Given the description of an element on the screen output the (x, y) to click on. 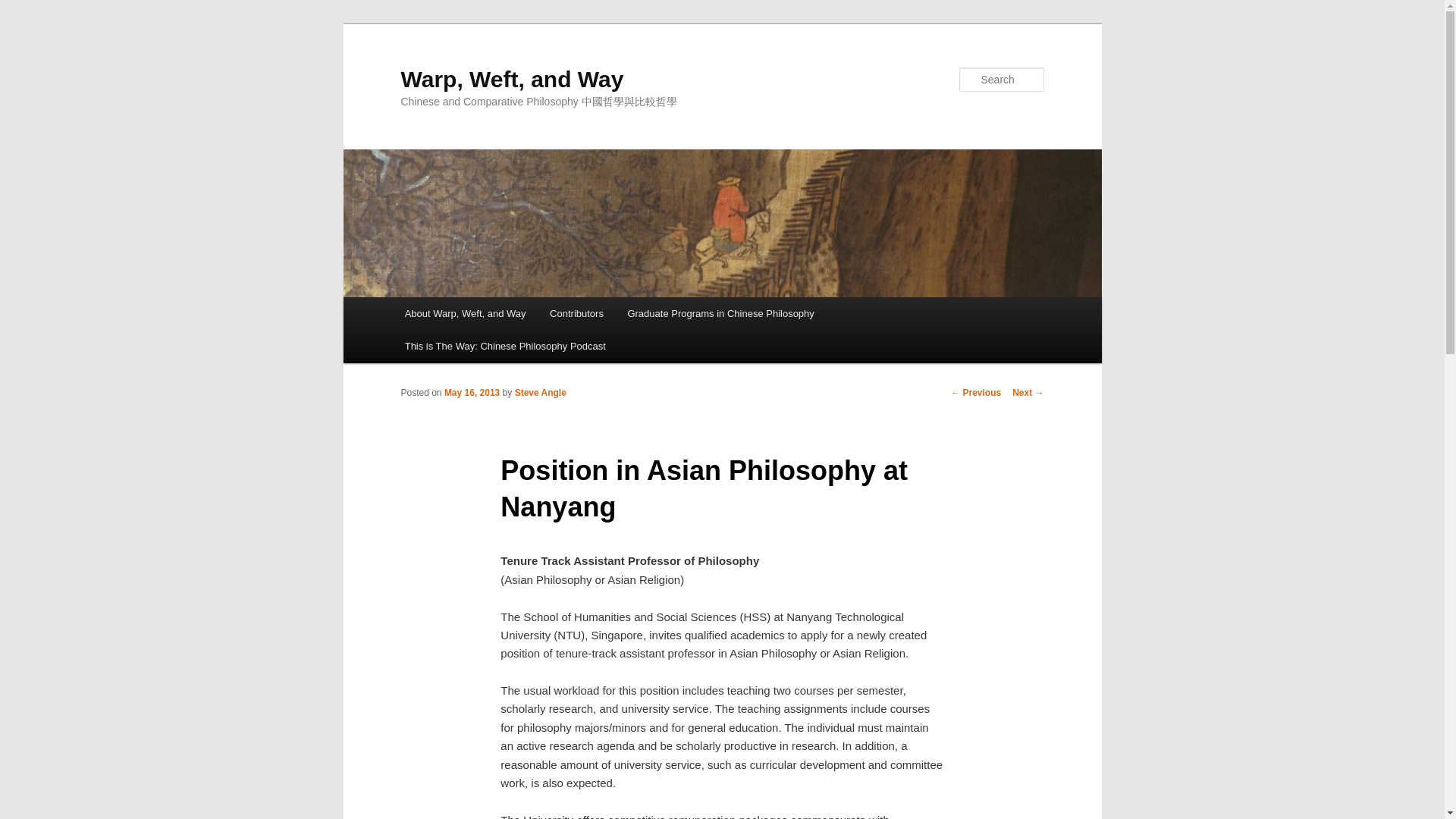
View all posts by Steve Angle (540, 392)
Steve Angle (540, 392)
Warp, Weft, and Way (511, 78)
About Warp, Weft, and Way (465, 313)
May 16, 2013 (471, 392)
Search (24, 8)
7:23 am (471, 392)
This is The Way: Chinese Philosophy Podcast (505, 346)
Contributors (575, 313)
